Given the description of an element on the screen output the (x, y) to click on. 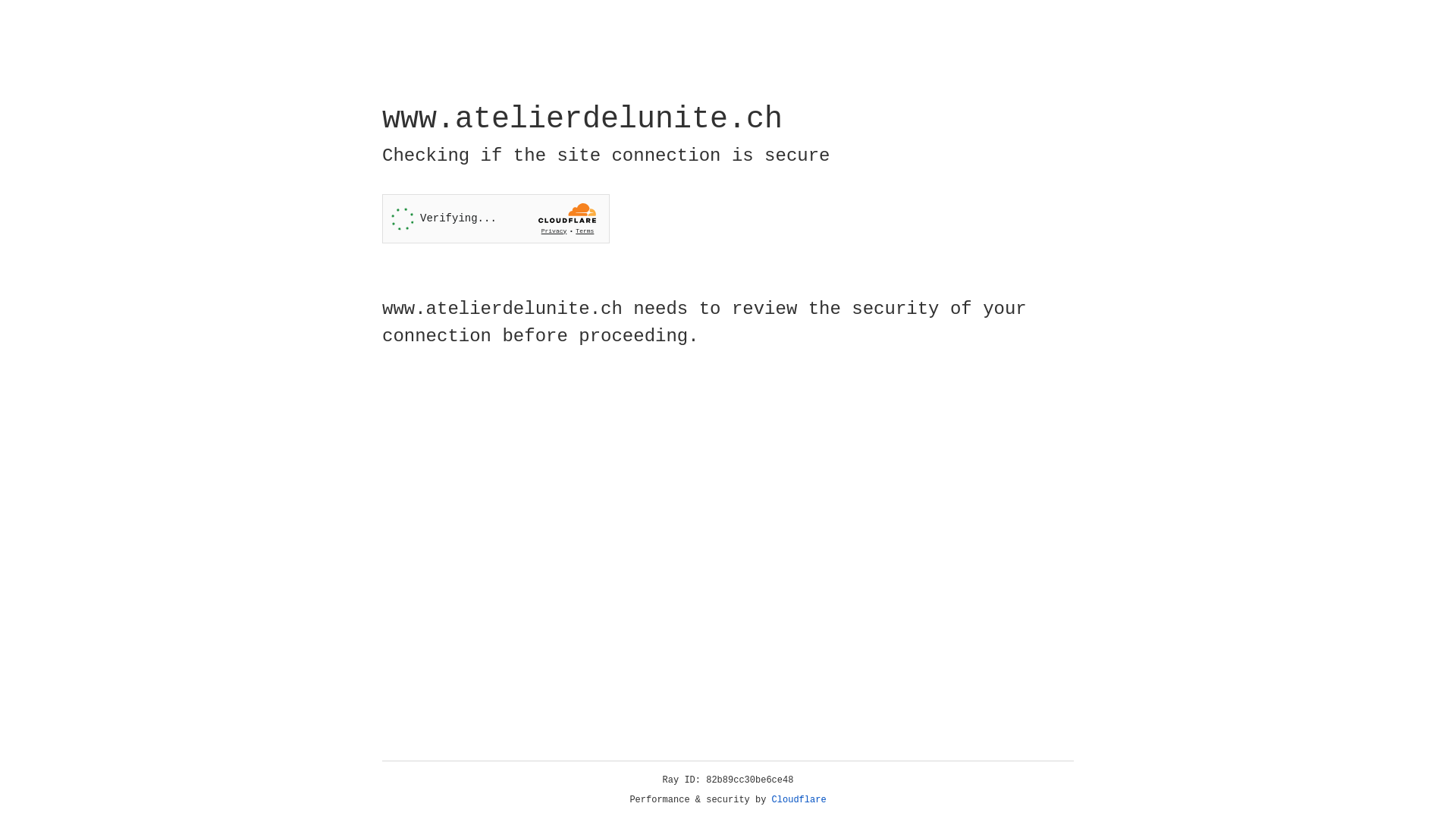
Cloudflare Element type: text (798, 799)
Widget containing a Cloudflare security challenge Element type: hover (495, 218)
